Given the description of an element on the screen output the (x, y) to click on. 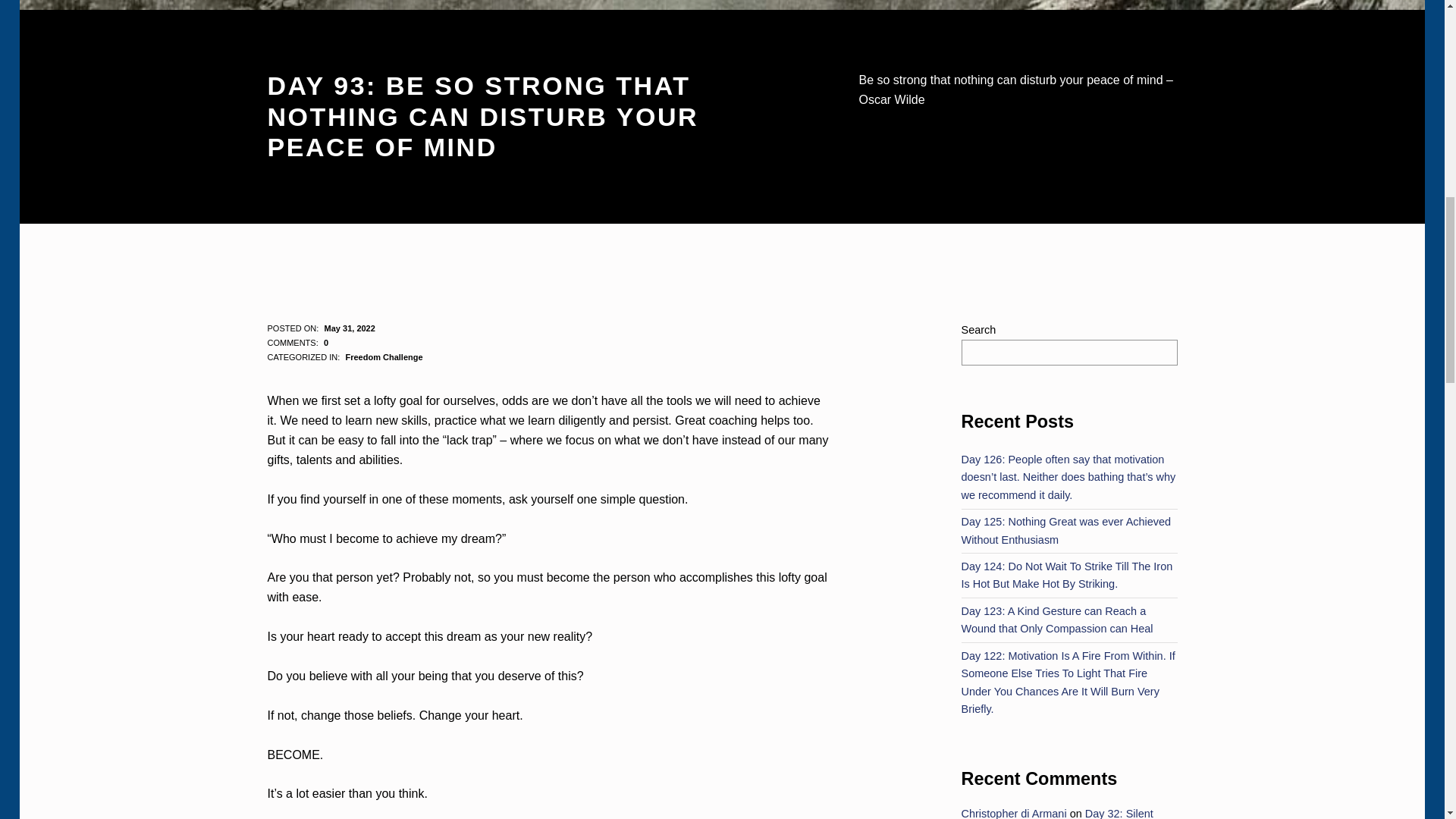
May 31, 2022 (349, 327)
Posted on: May 31, 2022 (349, 327)
Freedom Challenge (383, 356)
COMMENTS: 0 (297, 342)
Comments: 0 (297, 342)
